Given the description of an element on the screen output the (x, y) to click on. 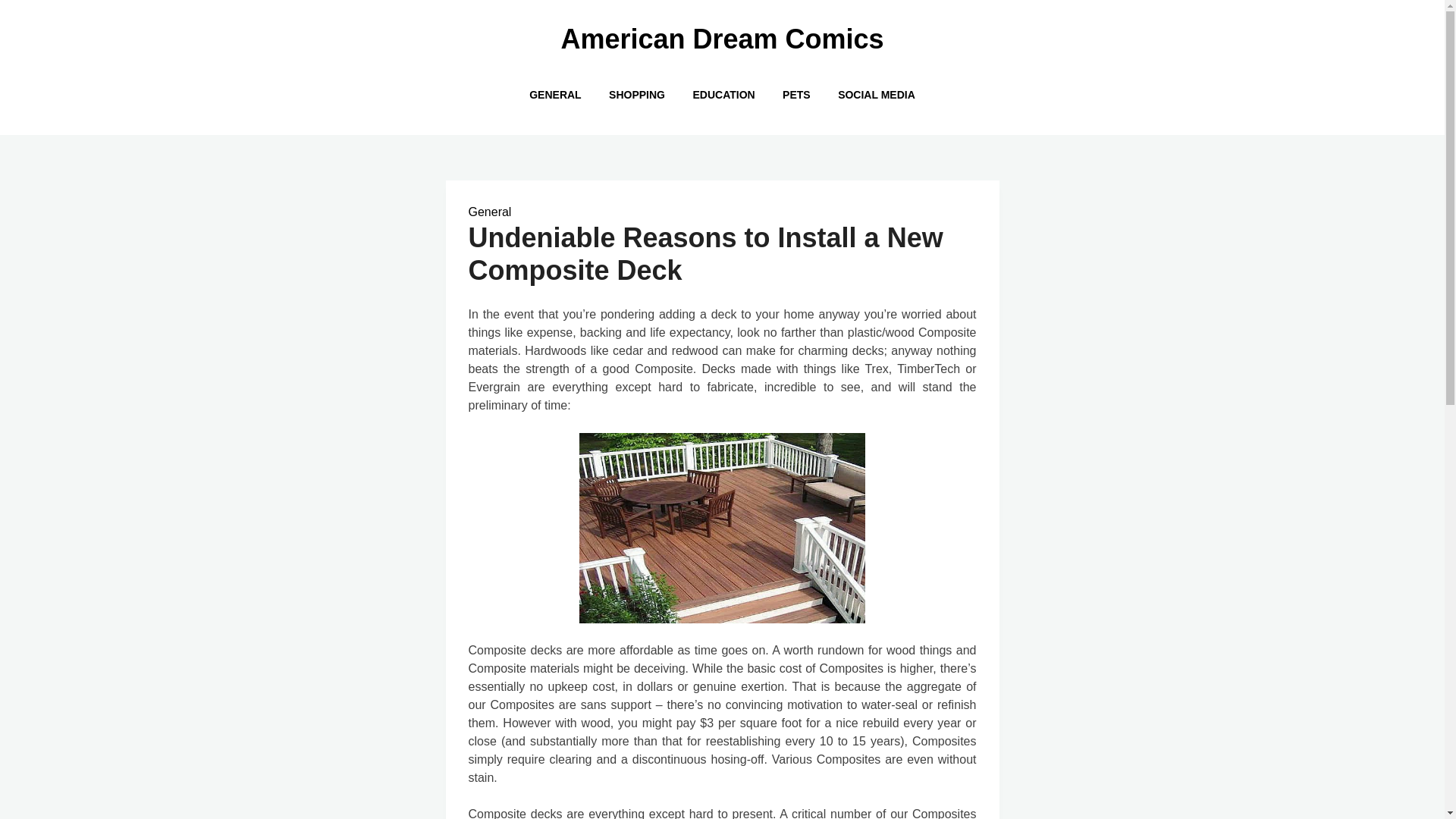
EDUCATION (723, 94)
SHOPPING (636, 94)
General (490, 211)
PETS (796, 94)
GENERAL (554, 94)
SOCIAL MEDIA (876, 94)
American Dream Comics (721, 38)
